Given the description of an element on the screen output the (x, y) to click on. 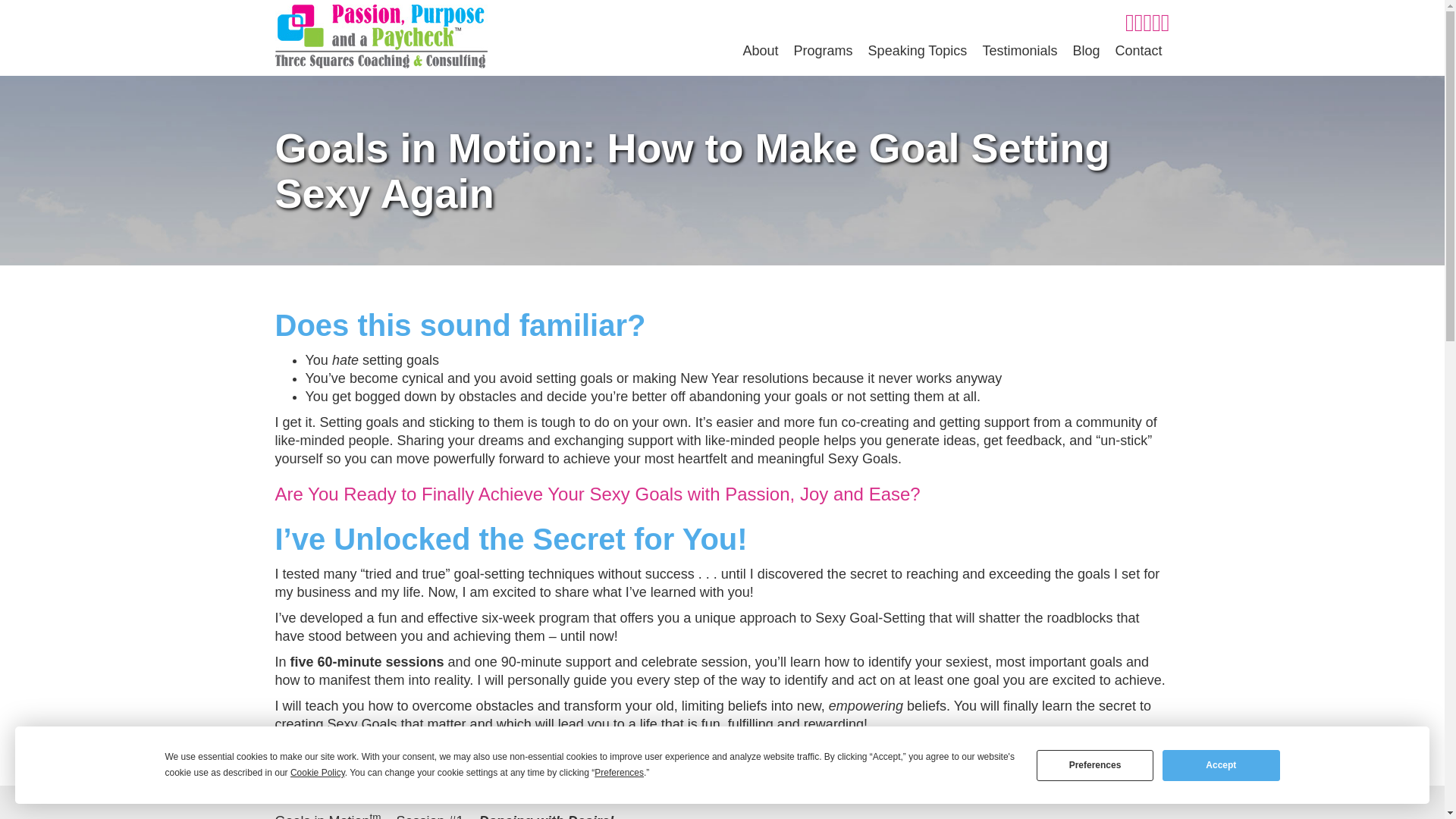
Preferences (1094, 764)
About (760, 51)
Programs (823, 51)
Blog (1085, 51)
Accept (1220, 764)
Contact (1137, 51)
Speaking Topics (917, 51)
Testimonials (1019, 51)
